Given the description of an element on the screen output the (x, y) to click on. 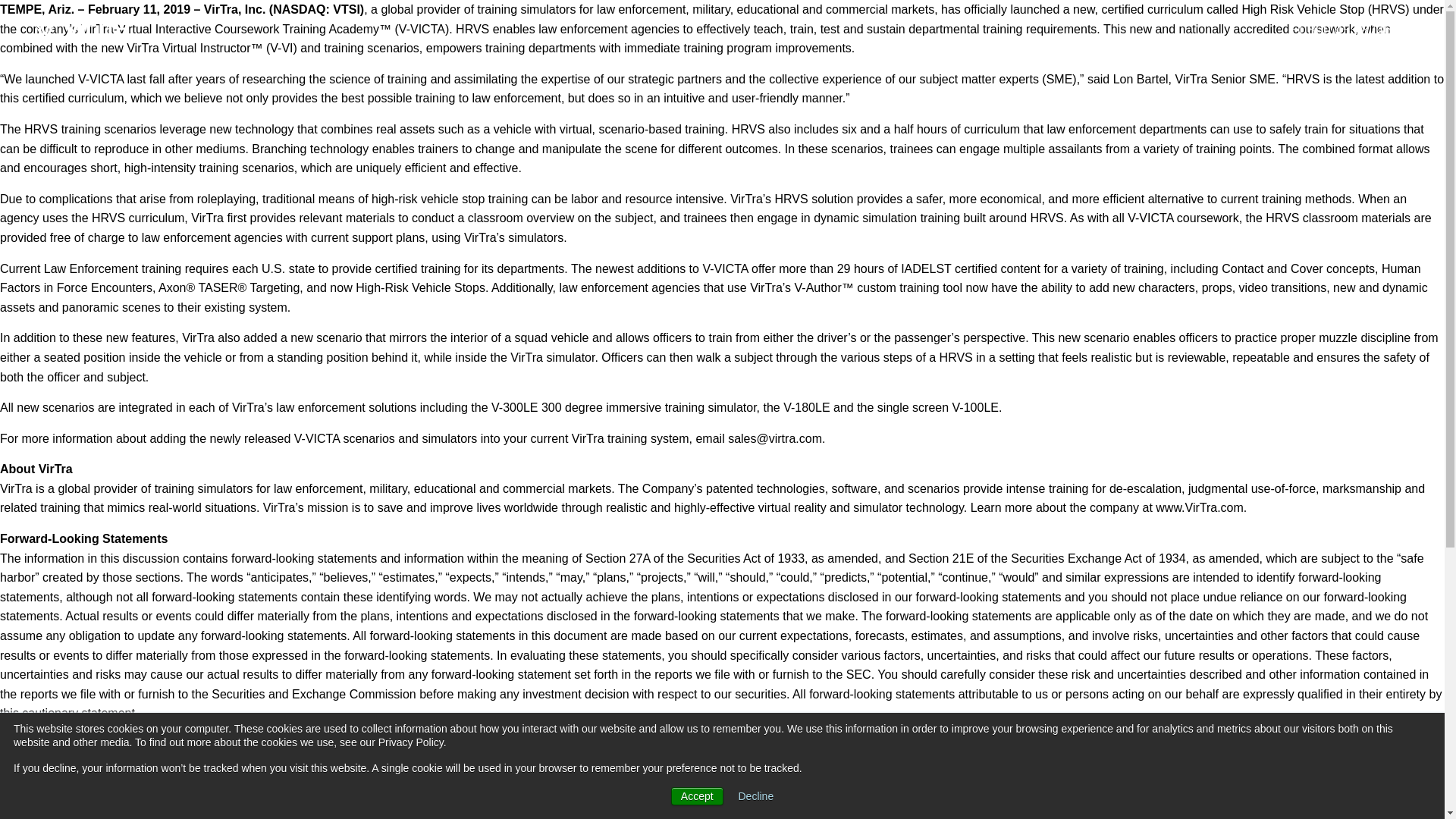
Decline (756, 796)
Accept (697, 796)
